Given the description of an element on the screen output the (x, y) to click on. 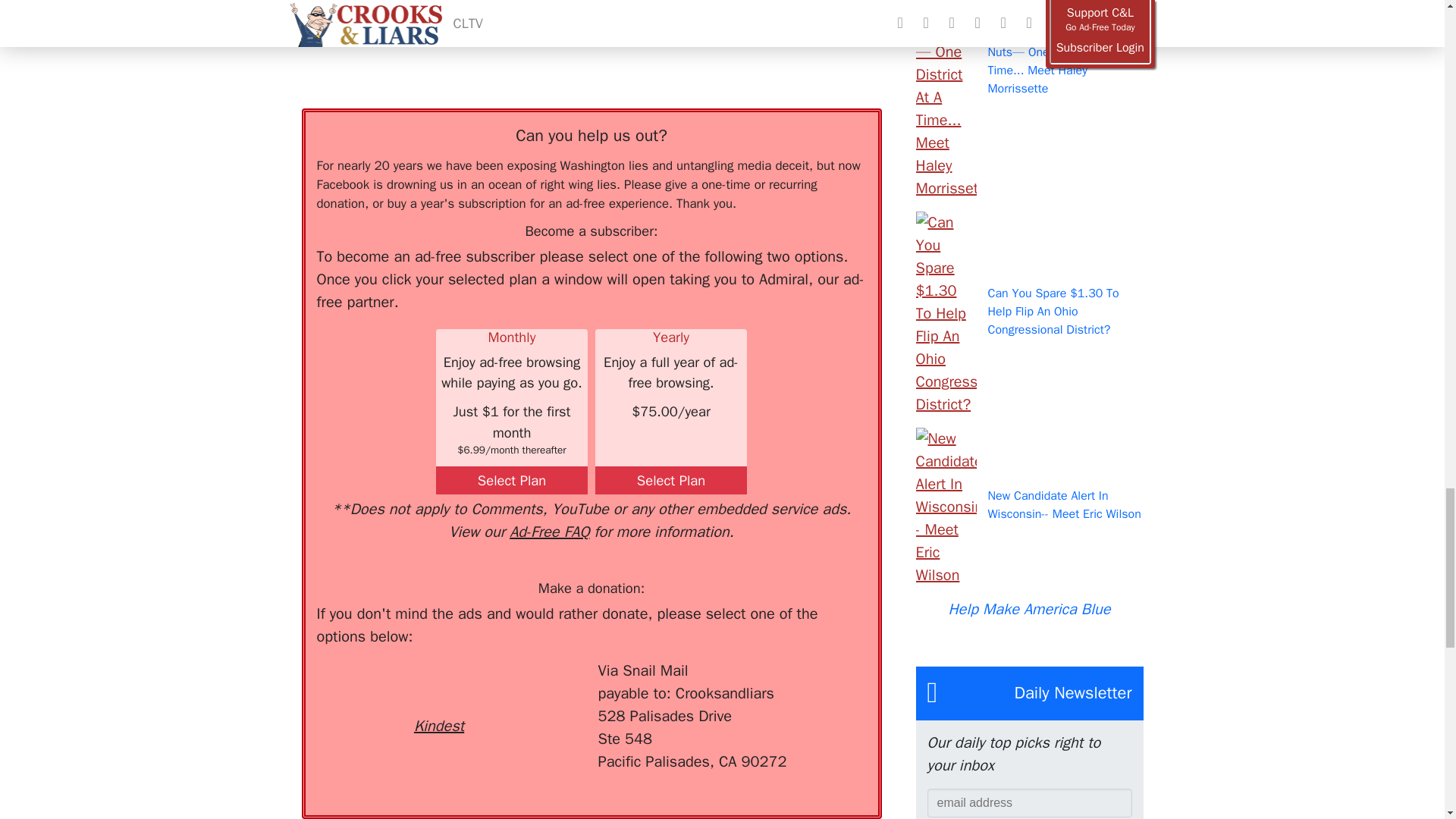
Donate via Kindest (438, 698)
Donate via PayPal (540, 687)
Donate via PayPal (540, 687)
Kindest (438, 698)
Ad-Free FAQ (549, 531)
